Given the description of an element on the screen output the (x, y) to click on. 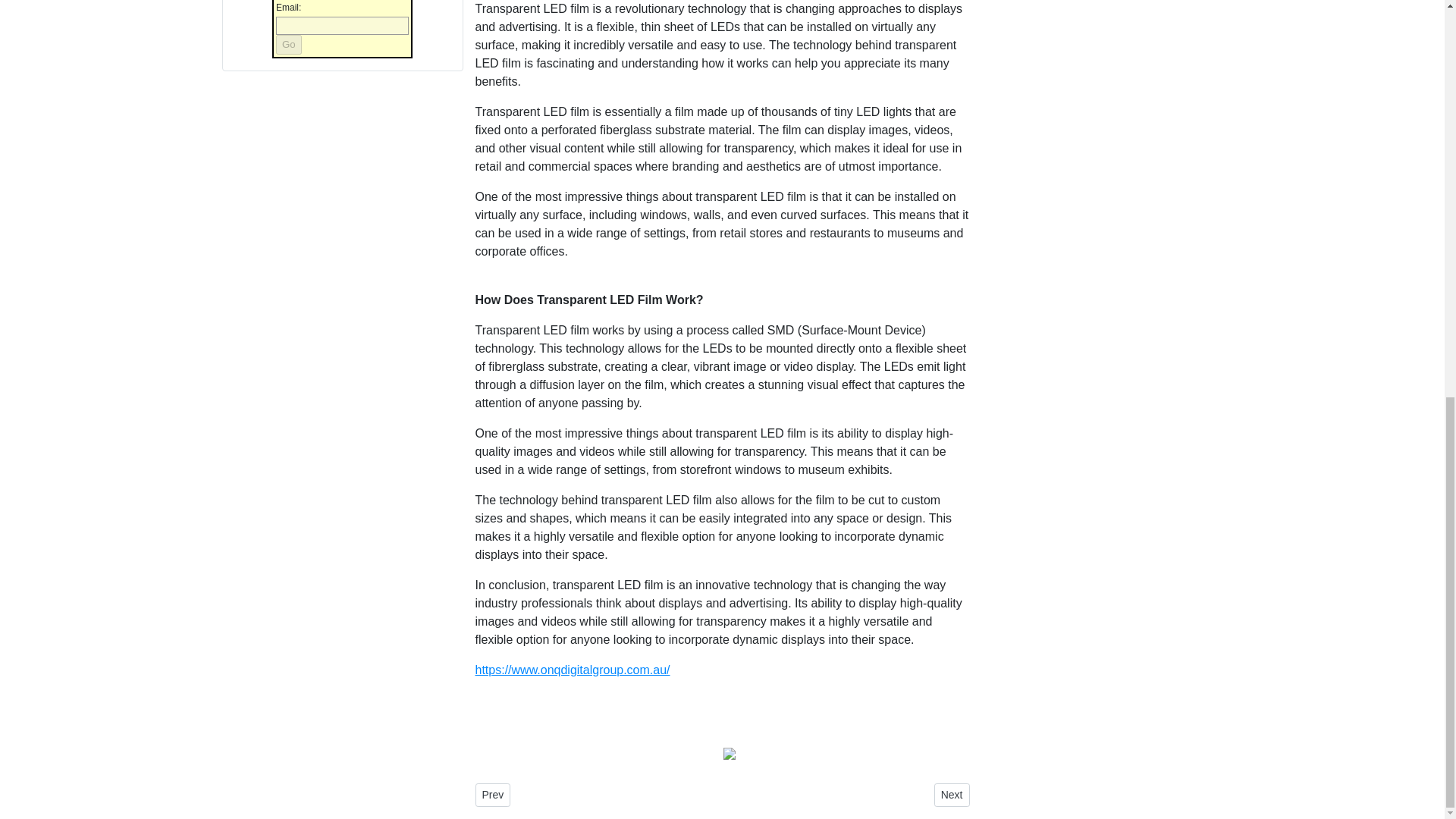
Go (288, 44)
Go (288, 44)
